Given the description of an element on the screen output the (x, y) to click on. 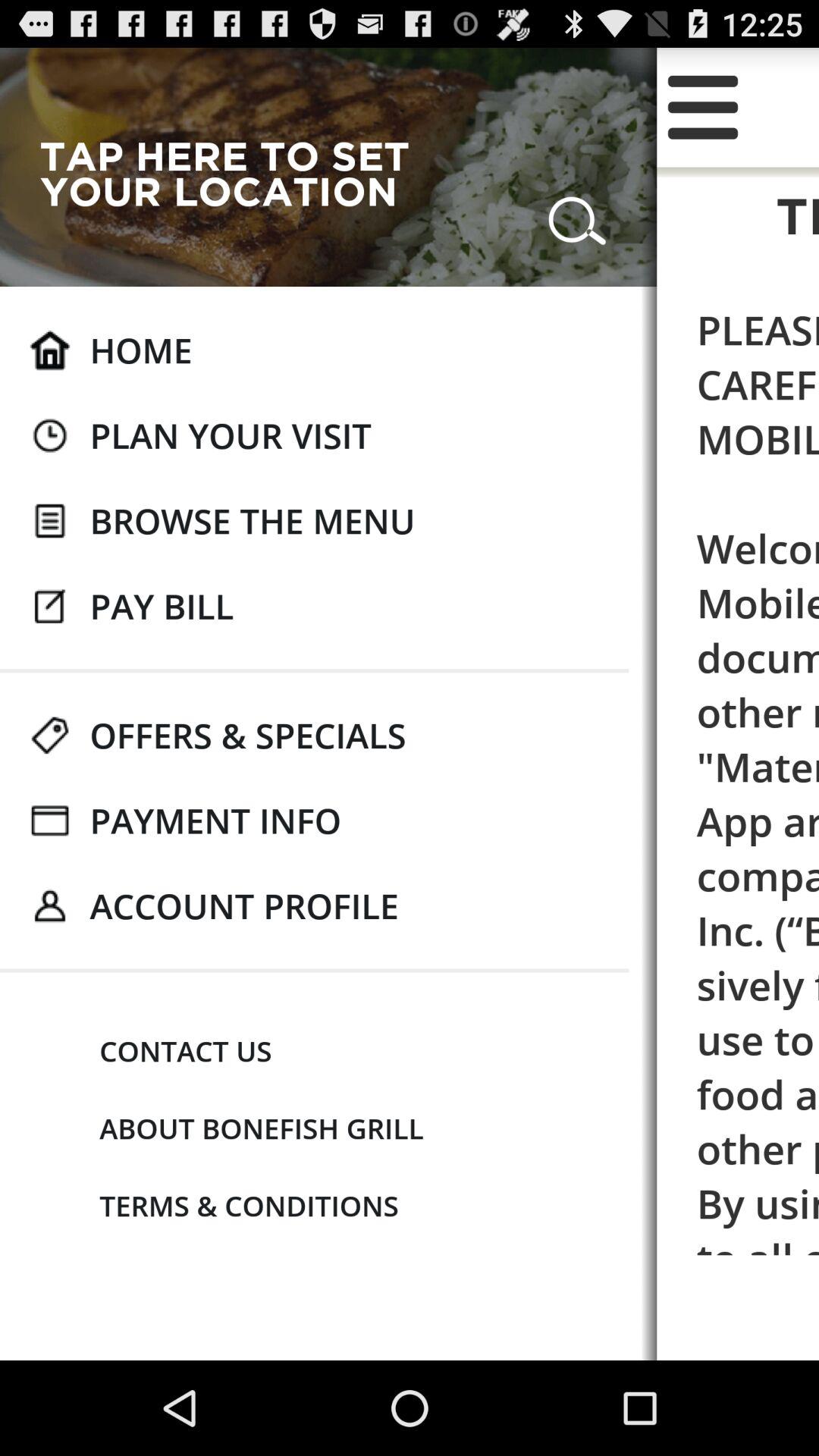
jump to the payment info app (215, 820)
